Given the description of an element on the screen output the (x, y) to click on. 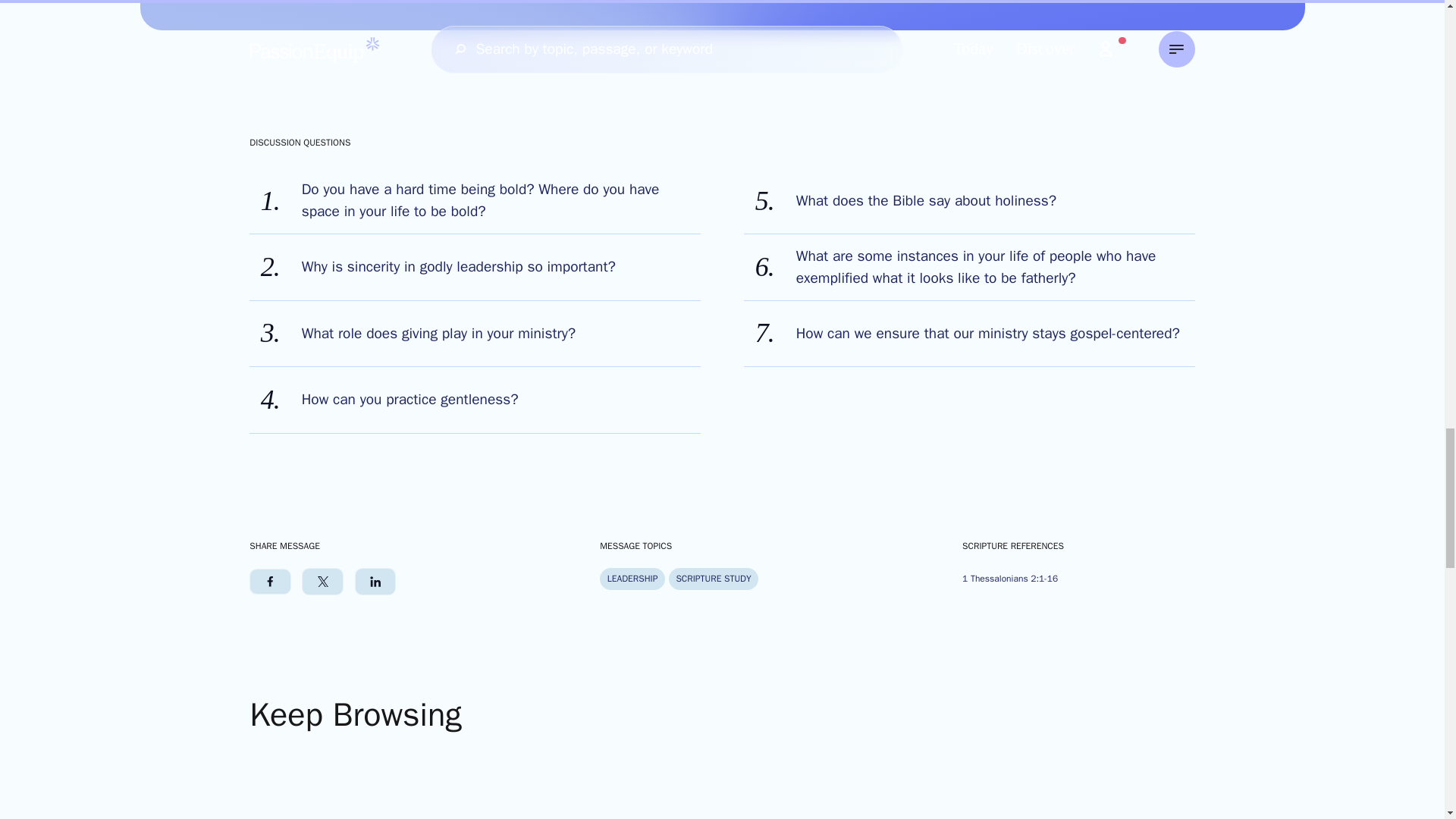
SCRIPTURE STUDY (713, 578)
Share on X (322, 581)
LEADERSHIP (632, 578)
Share on LinkedIn (375, 581)
Share on Facebook (269, 581)
